Given the description of an element on the screen output the (x, y) to click on. 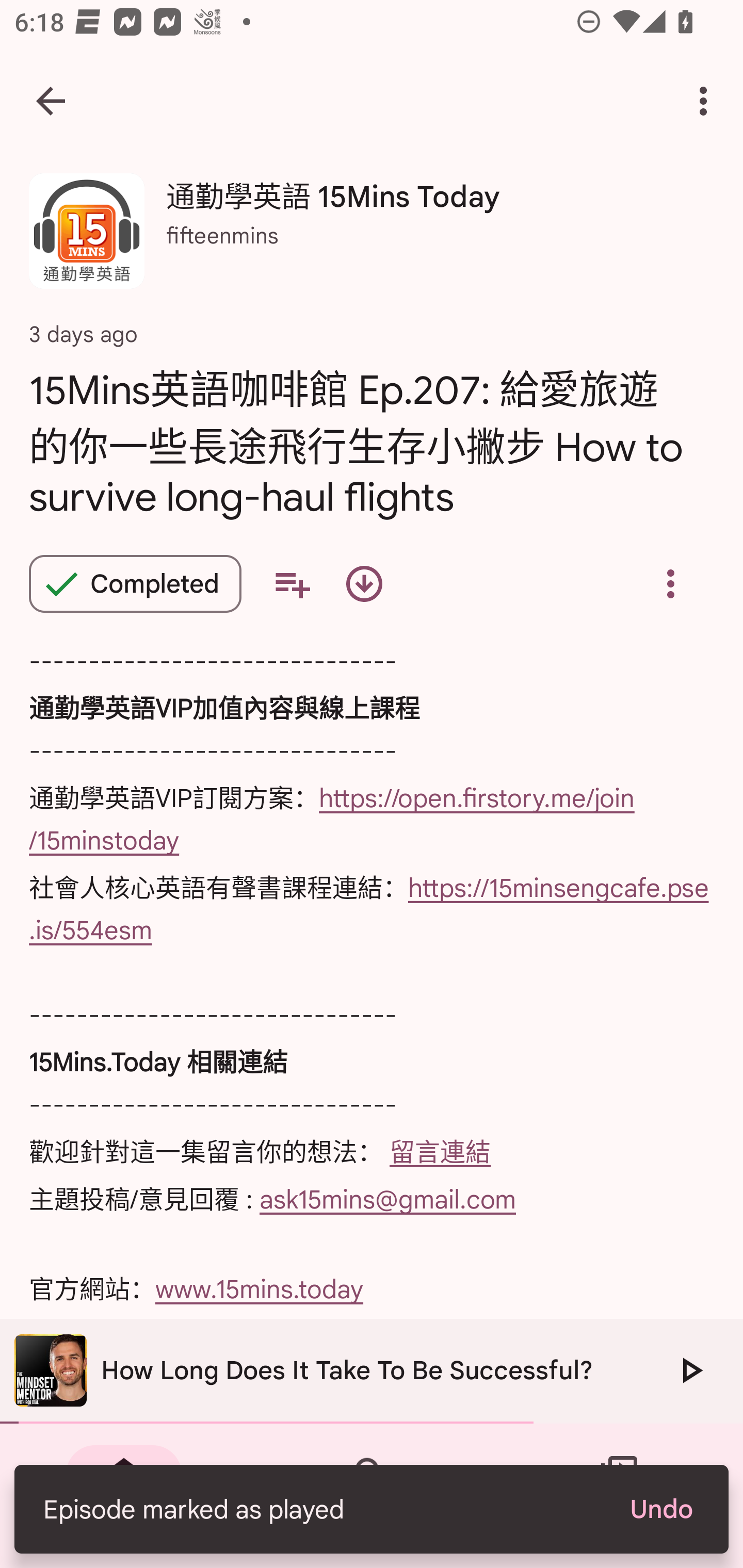
Navigate up (50, 101)
More options (706, 101)
通勤學英語 15Mins Today 通勤學英語 15Mins Today fifteenmins (371, 238)
Add to your queue (291, 583)
Download episode (364, 583)
Overflow menu (670, 583)
Play (690, 1370)
Undo (660, 1509)
